Given the description of an element on the screen output the (x, y) to click on. 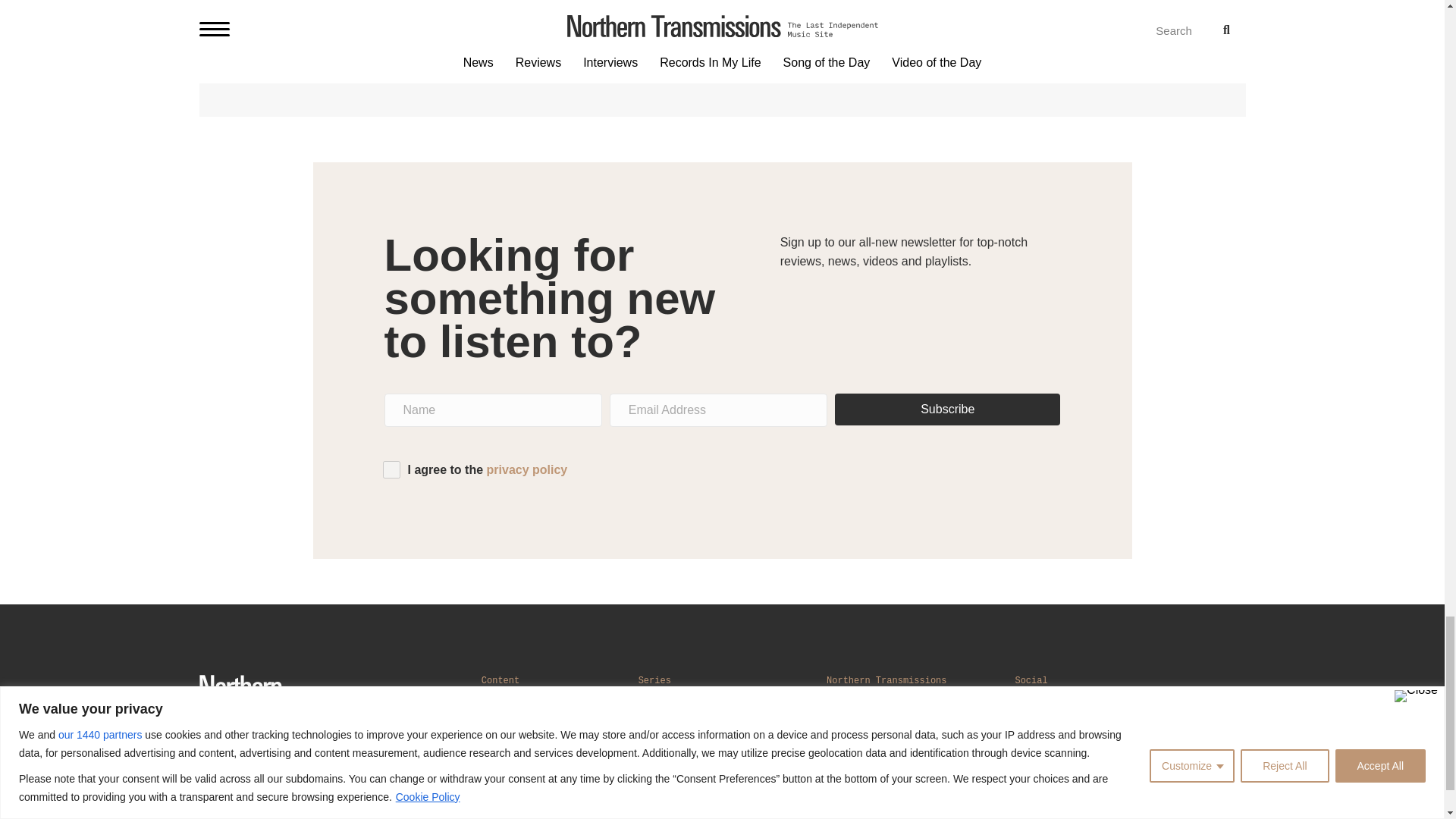
1 (389, 469)
